Given the description of an element on the screen output the (x, y) to click on. 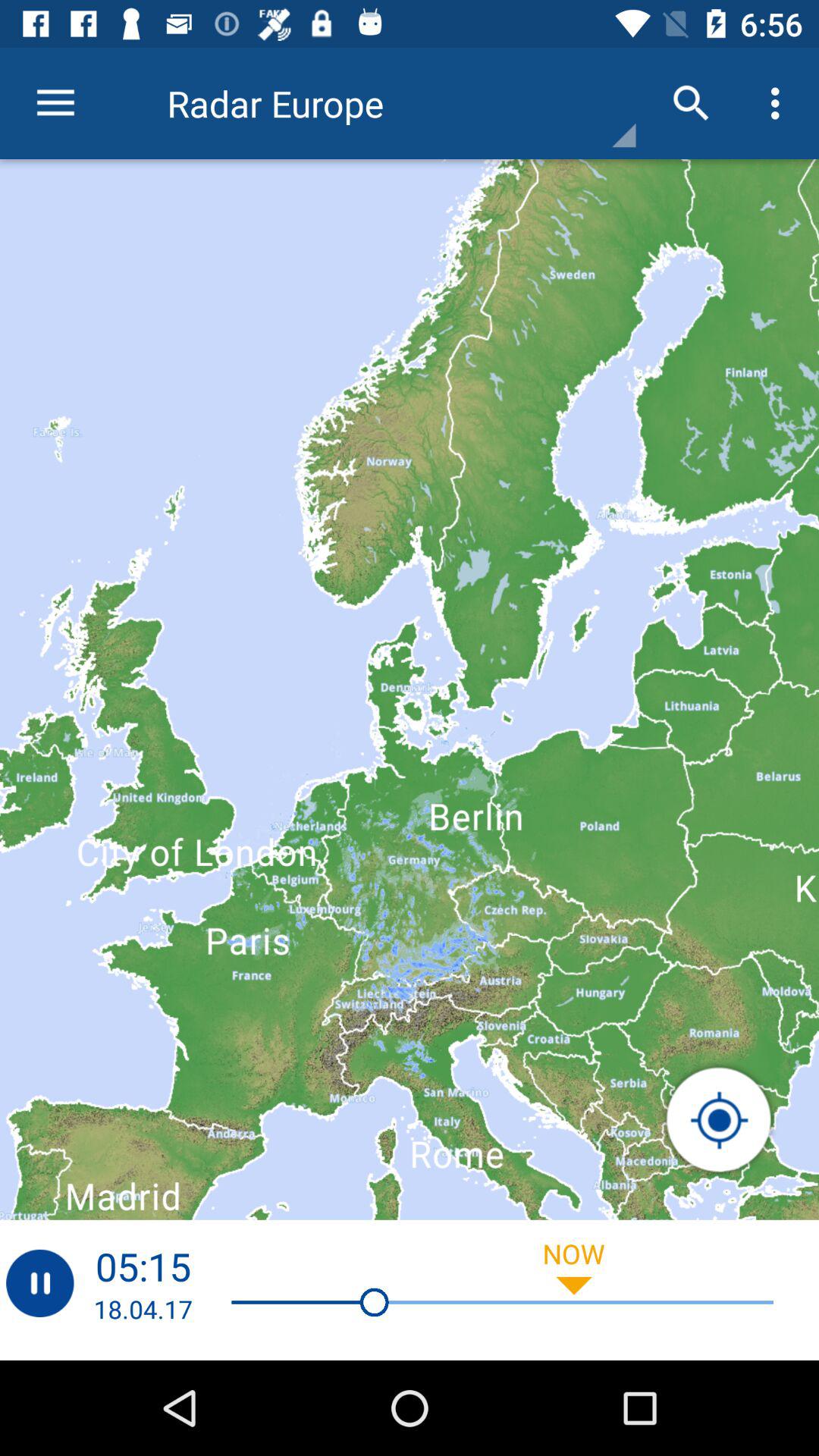
go to search (719, 1120)
